Given the description of an element on the screen output the (x, y) to click on. 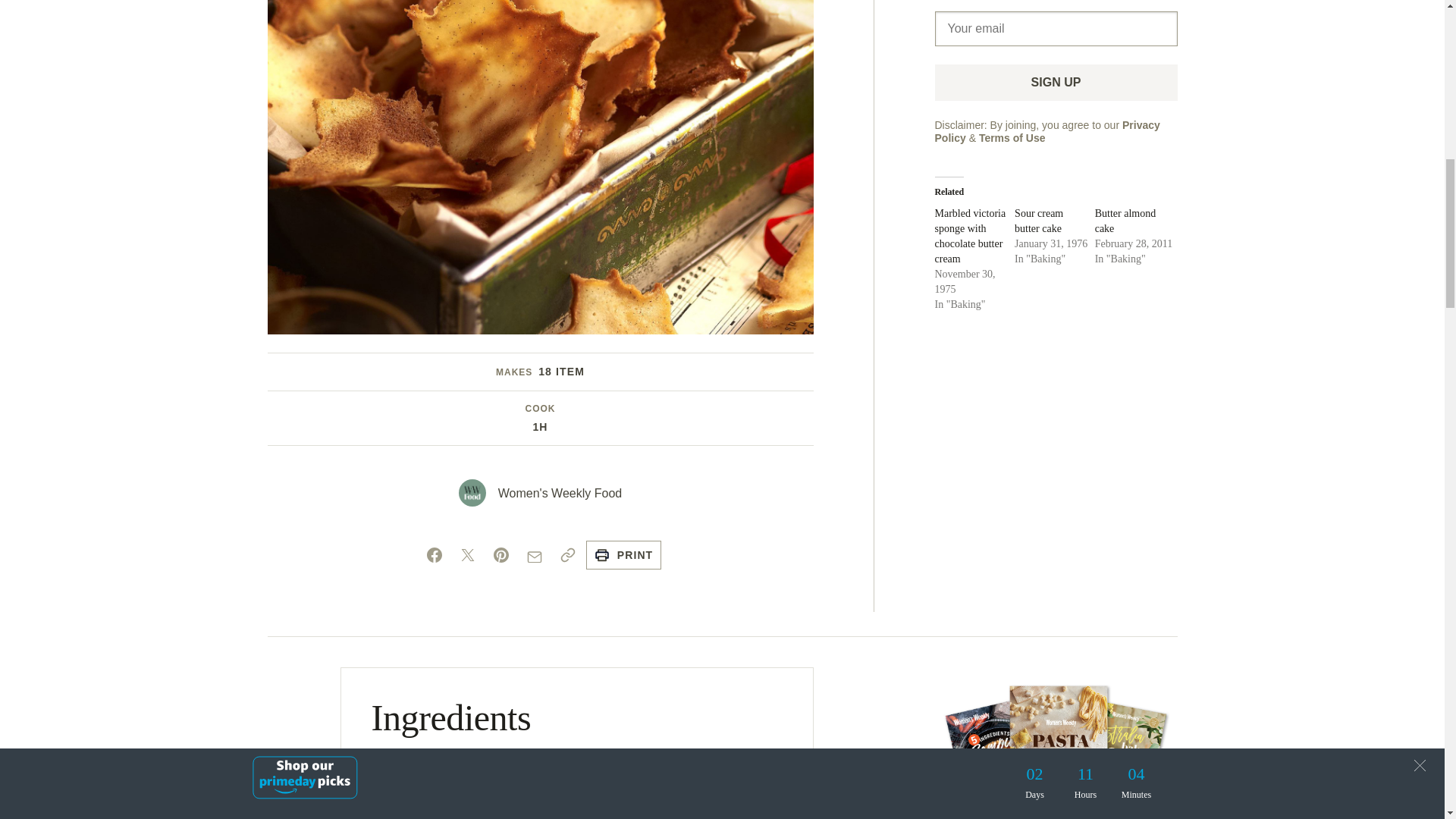
Marbled victoria sponge with chocolate butter cream (970, 236)
Sour cream butter cake (1038, 221)
Butter almond cake (1125, 221)
